Given the description of an element on the screen output the (x, y) to click on. 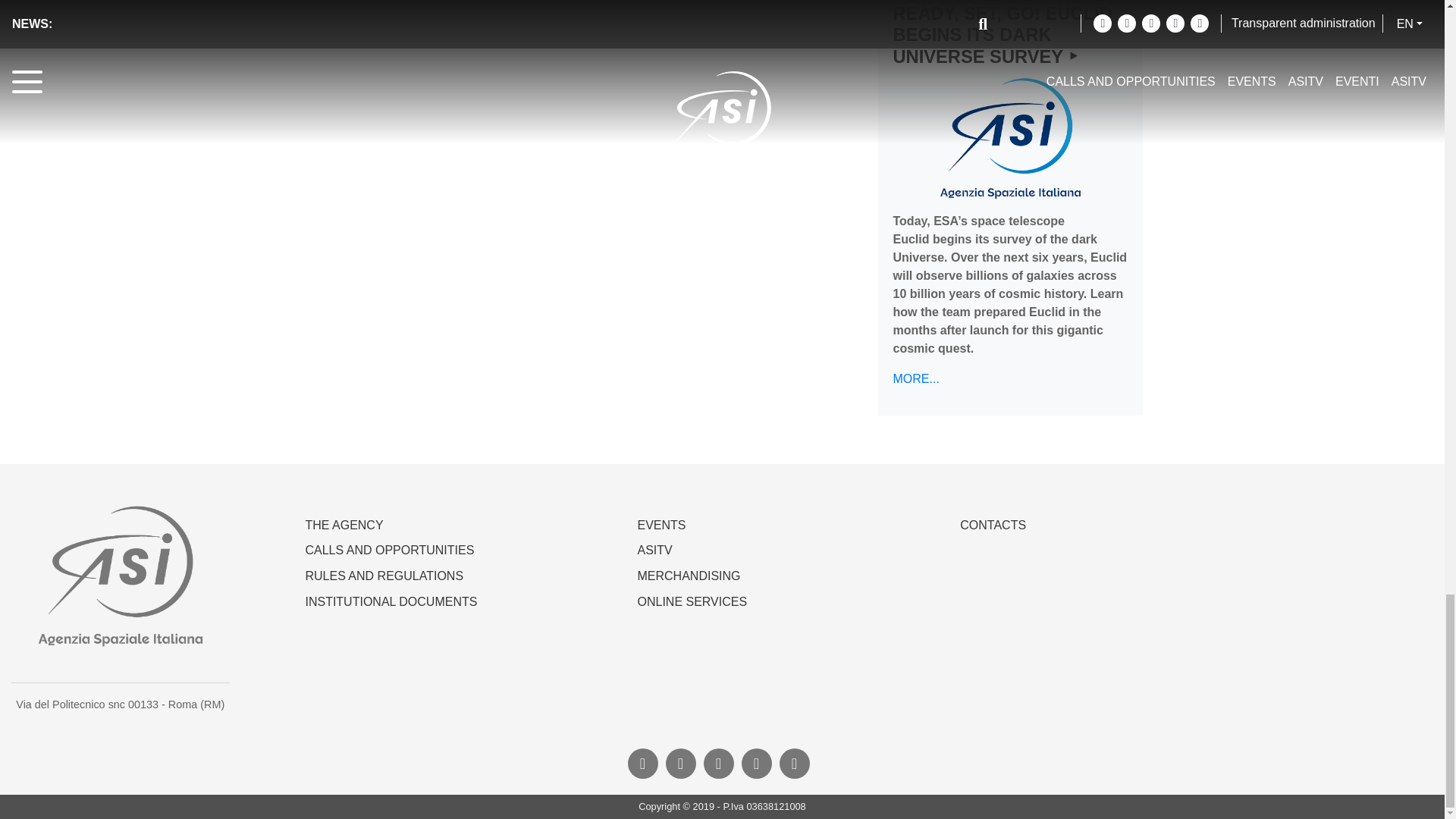
ASI - Agenzia Spaziale Italiana (1010, 137)
Agenzia Spaziale Italiana (120, 576)
